Given the description of an element on the screen output the (x, y) to click on. 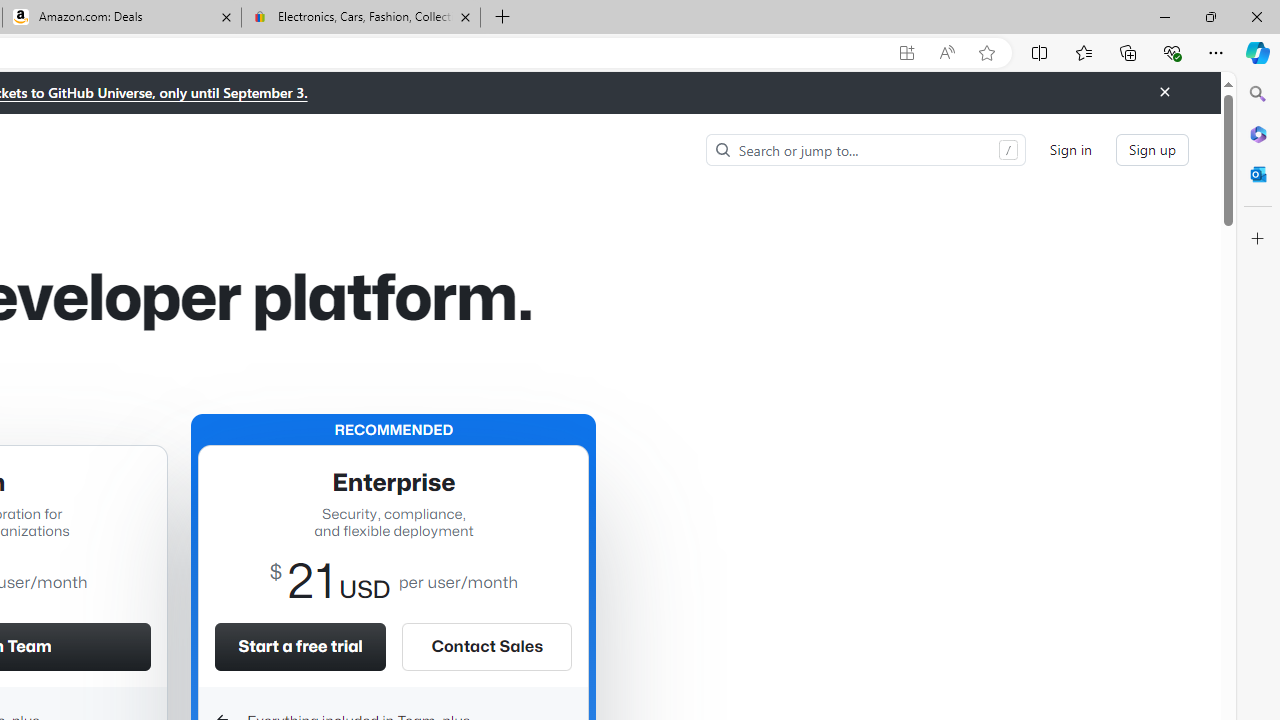
Start a free trial (300, 646)
